Given the description of an element on the screen output the (x, y) to click on. 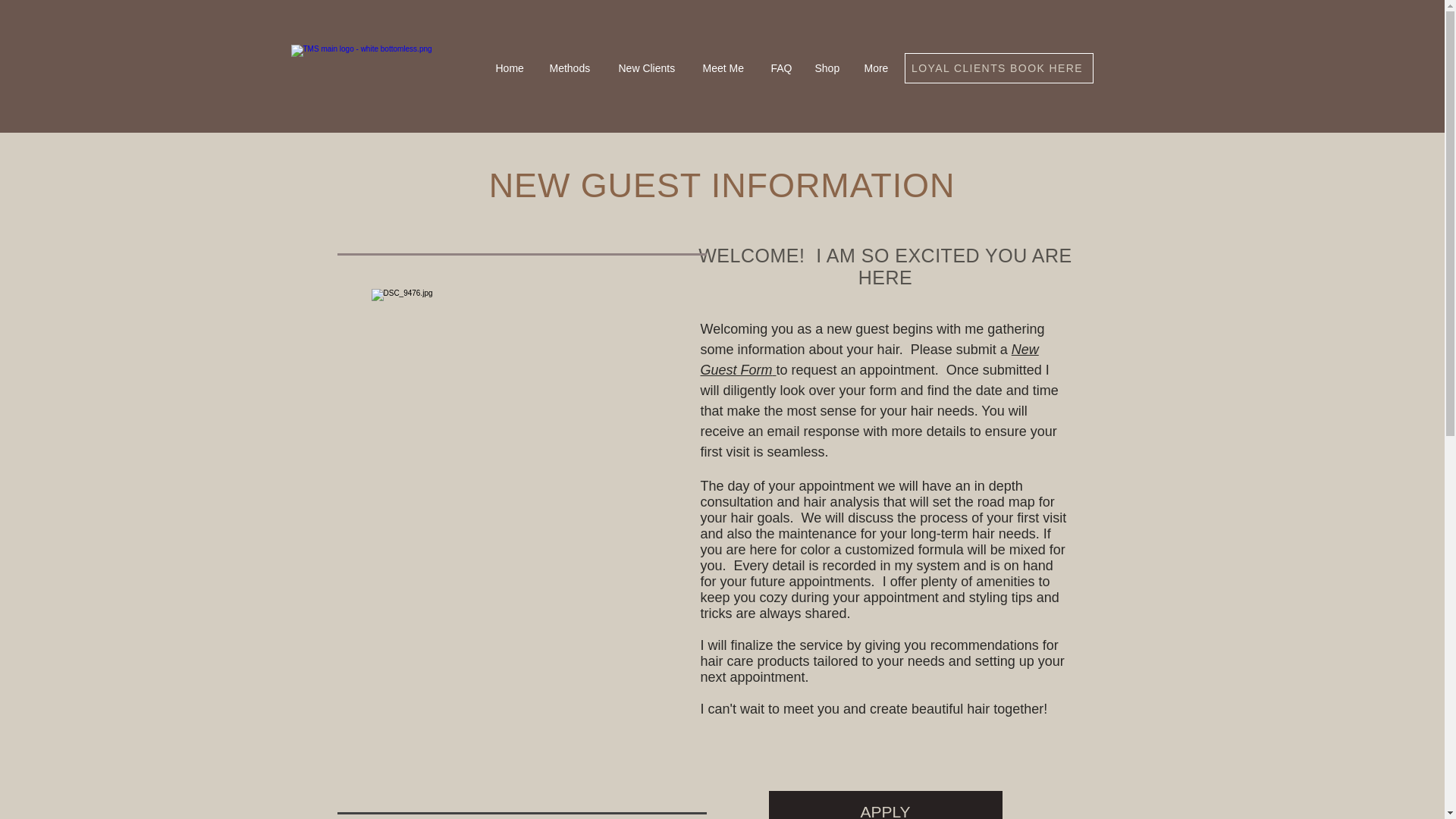
New Clients (648, 68)
New Guest Form (869, 359)
LOYAL CLIENTS BOOK HERE (998, 68)
Methods (572, 68)
Shop (828, 68)
Home (510, 68)
FAQ (781, 68)
Meet Me (725, 68)
APPLY (885, 805)
